Given the description of an element on the screen output the (x, y) to click on. 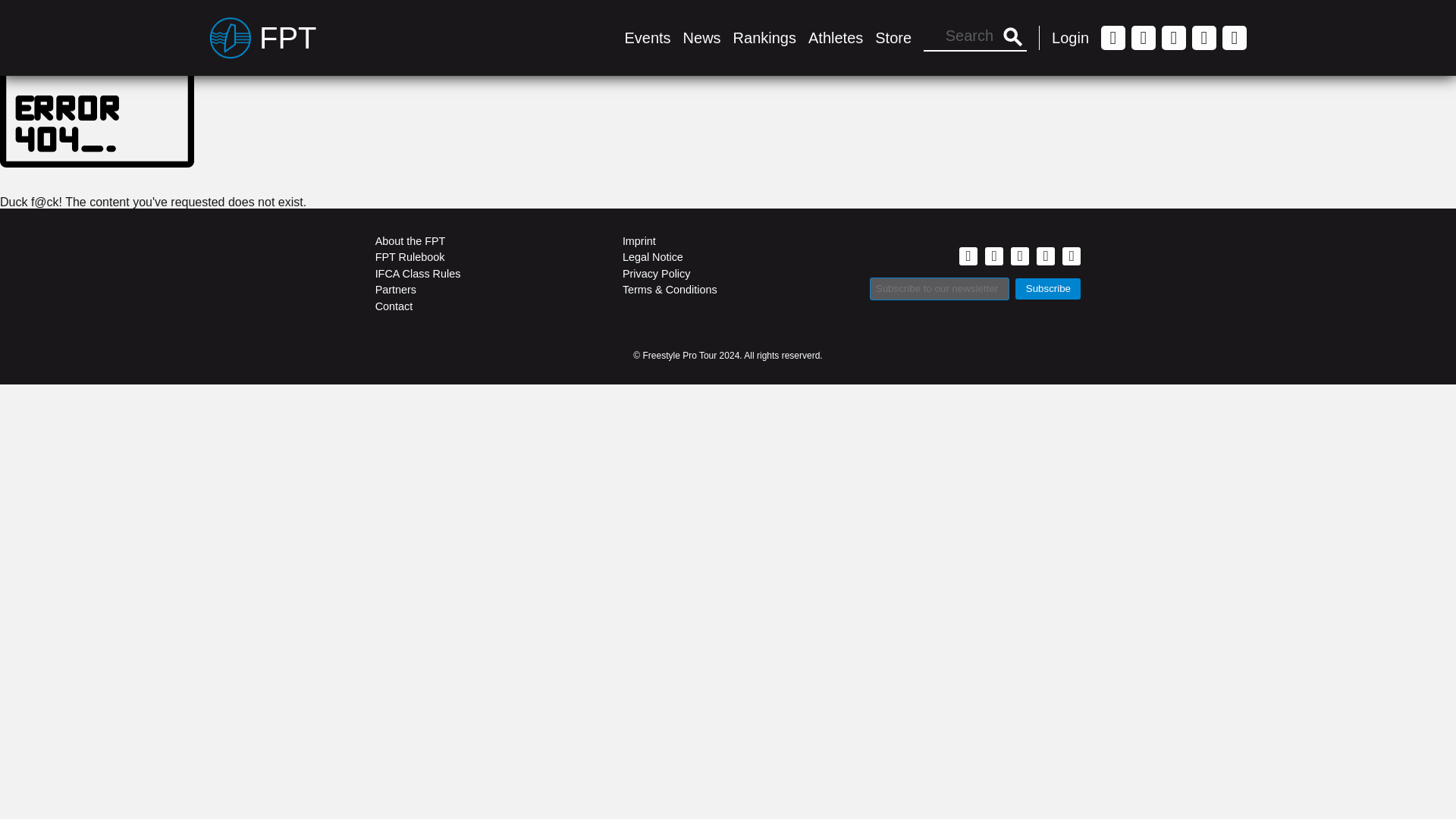
Legal Notice (727, 257)
Rankings (764, 37)
FPT Rulebook (480, 257)
FPT (263, 37)
Login (1070, 37)
Search Button (1012, 37)
Privacy Policy (727, 273)
IFCA Class Rules (480, 273)
News (701, 37)
About the FPT (480, 240)
